Given the description of an element on the screen output the (x, y) to click on. 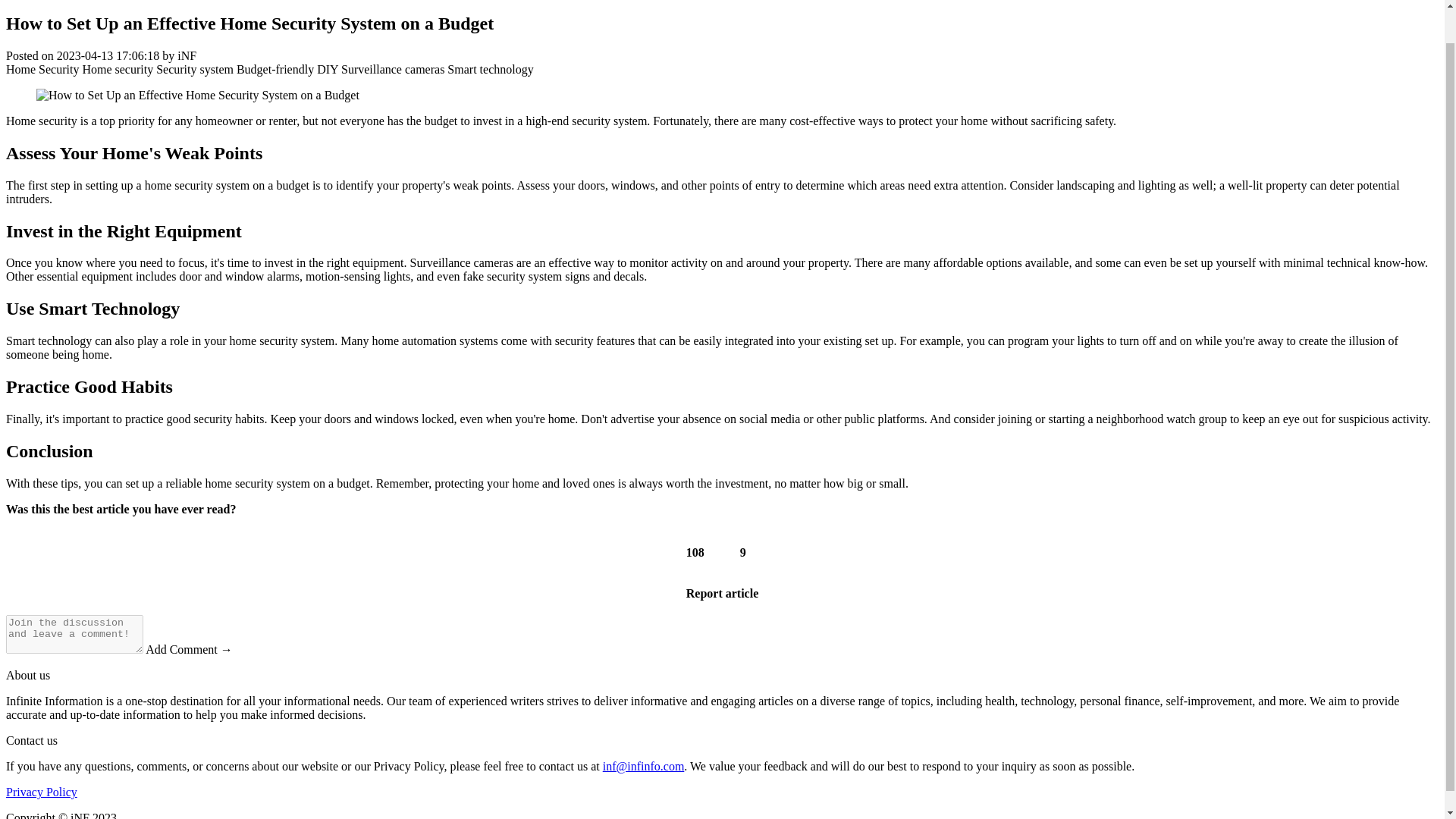
Security system (193, 69)
Home security (116, 69)
Budget-friendly (274, 69)
DIY (327, 69)
Smart technology (489, 69)
Surveillance cameras (392, 69)
Privacy Policy (41, 791)
Home Security (41, 69)
